Given the description of an element on the screen output the (x, y) to click on. 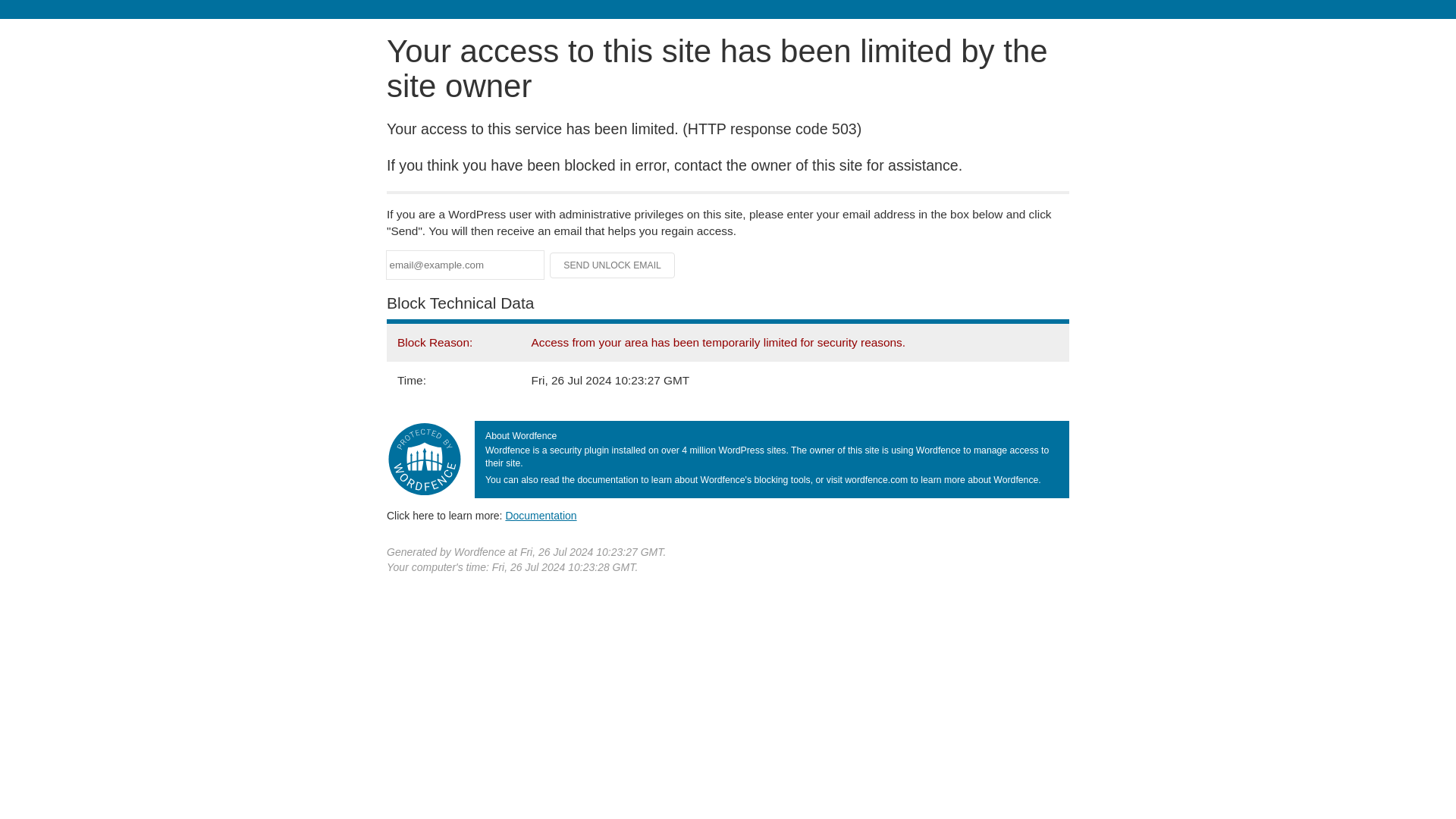
Send Unlock Email (612, 265)
Documentation (540, 515)
Send Unlock Email (612, 265)
